Given the description of an element on the screen output the (x, y) to click on. 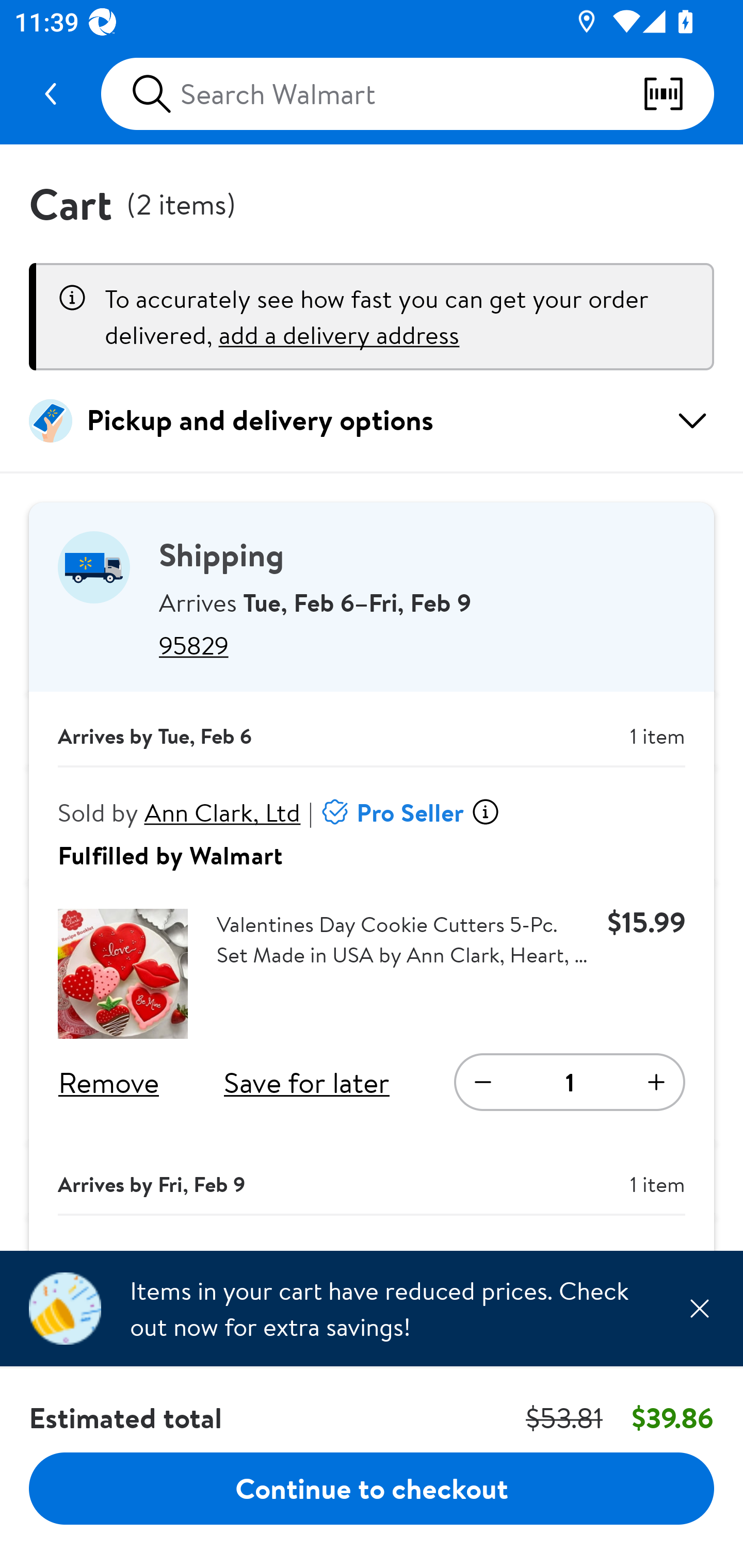
Navigate up (50, 93)
Search Walmart Opens barcode scanner (407, 94)
Opens barcode scanner (677, 94)
95829 (422, 645)
Sold by Ann Clark, Ltd (178, 811)
Info for Pro Seller (485, 812)
Item image (122, 973)
Close (699, 1308)
Continue to checkout (371, 1487)
